Given the description of an element on the screen output the (x, y) to click on. 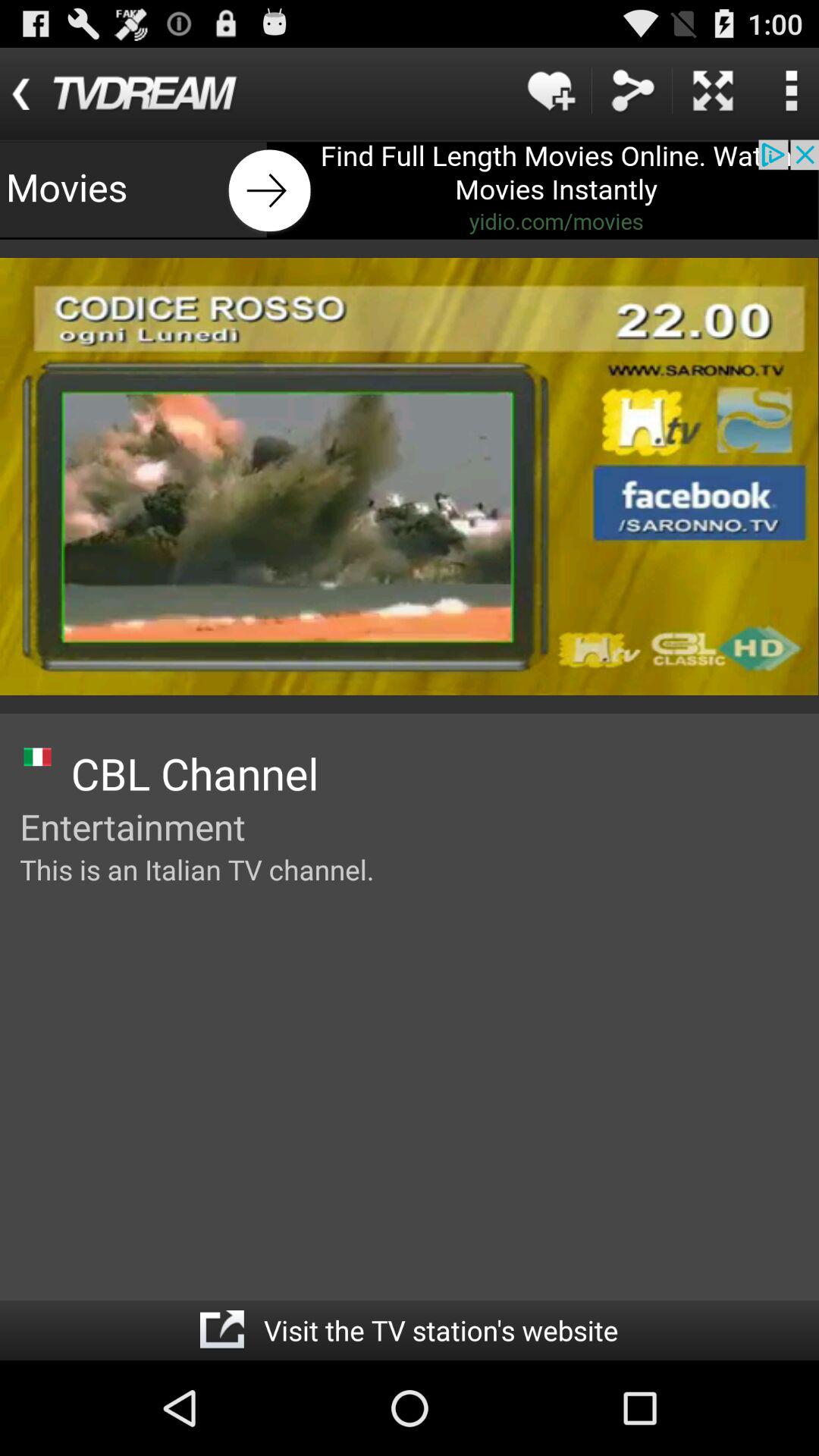
open tv station website (221, 1330)
